Given the description of an element on the screen output the (x, y) to click on. 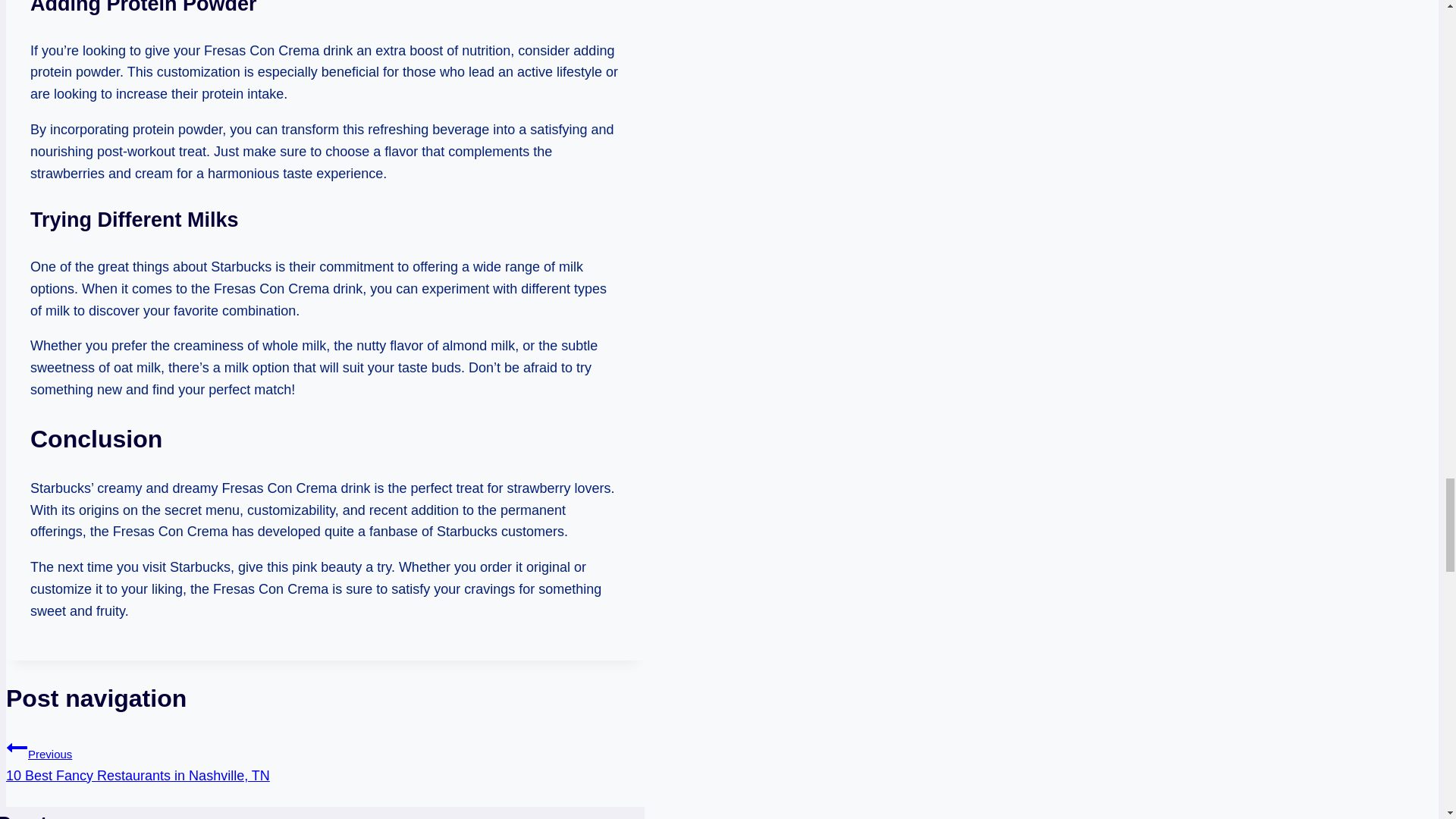
Previous (16, 747)
